Given the description of an element on the screen output the (x, y) to click on. 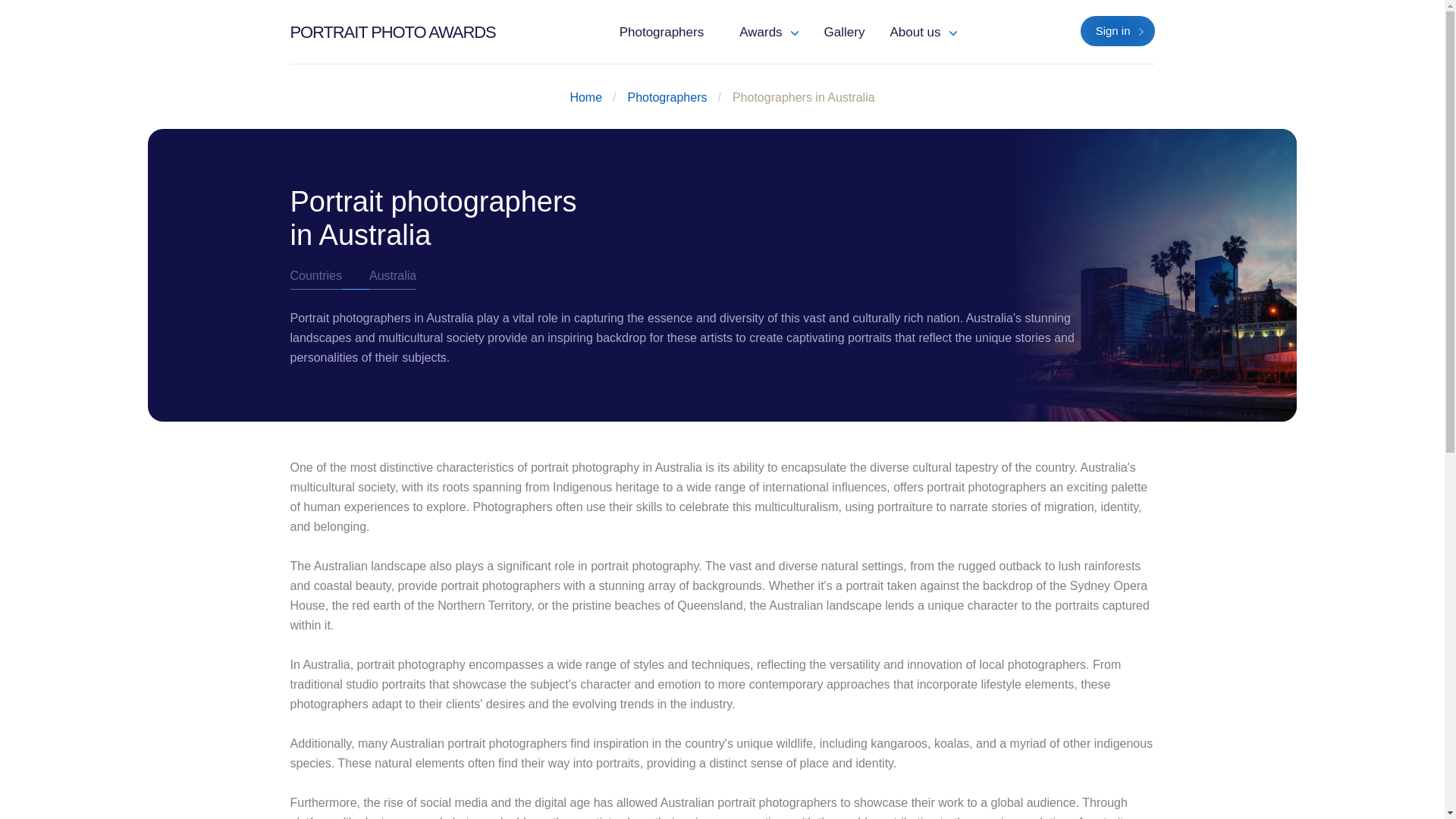
About us (922, 31)
Countries (314, 274)
Awards (768, 31)
Home (585, 97)
Sign in (1117, 30)
Photographers (667, 97)
Photographers (662, 31)
Photographers in Australia (803, 97)
PORTRAIT PHOTO AWARDS (392, 31)
Australia (392, 274)
